Given the description of an element on the screen output the (x, y) to click on. 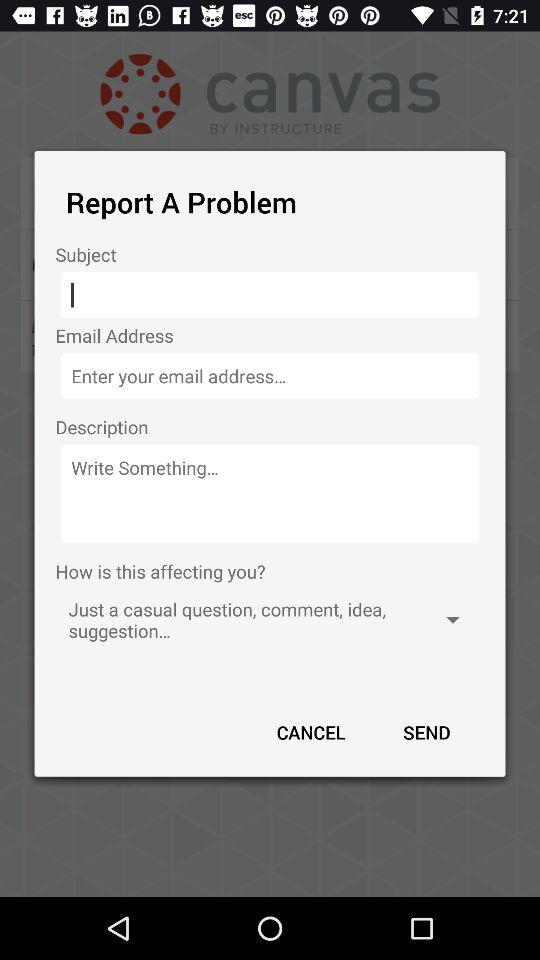
enter the subject (269, 295)
